Given the description of an element on the screen output the (x, y) to click on. 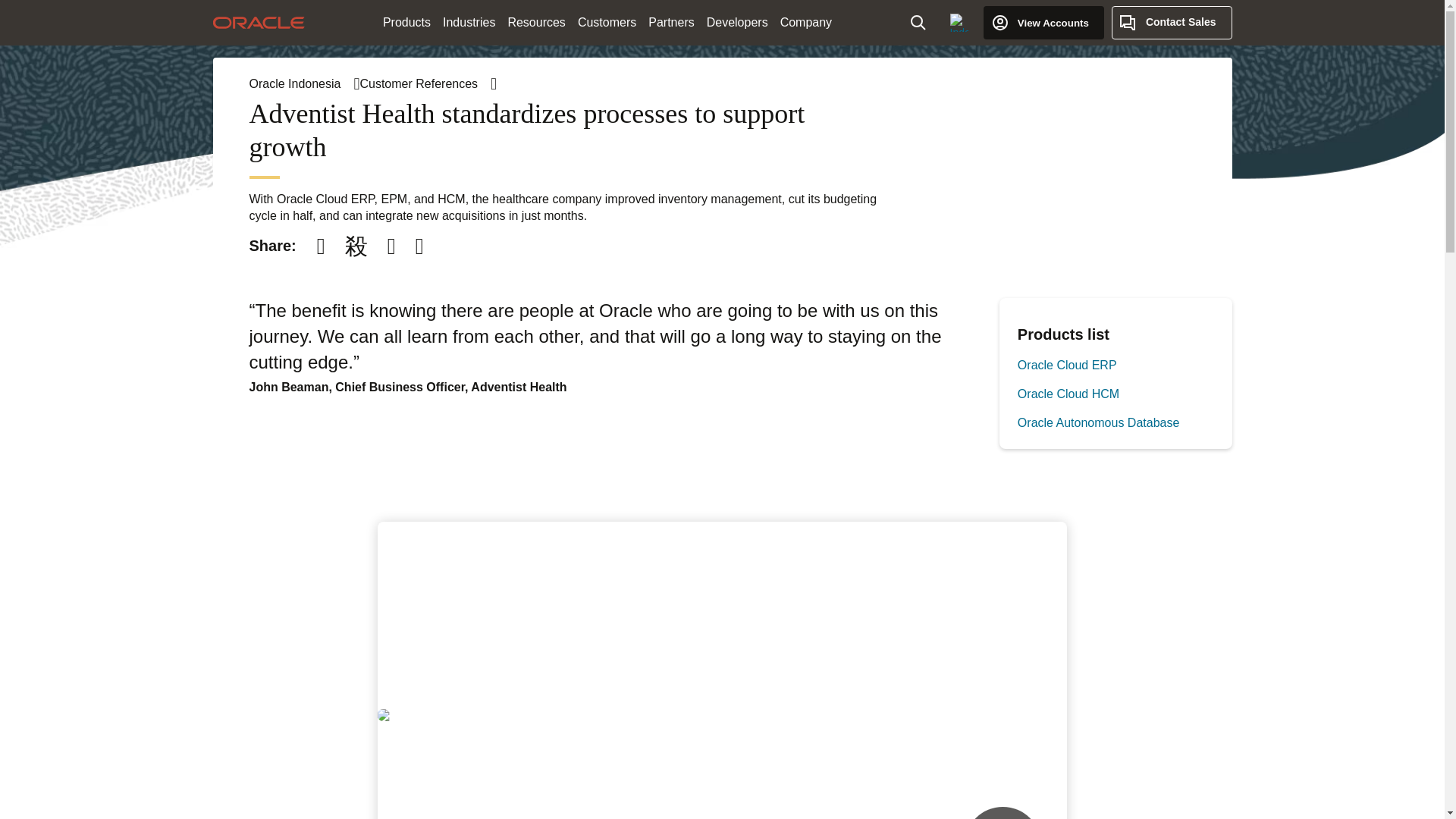
Developers (737, 22)
Oracle Indonesia (303, 83)
View Accounts (1043, 22)
Industries (468, 22)
Company (806, 22)
Contact Sales (1171, 22)
Products (406, 22)
Resources (535, 22)
Country (958, 22)
Contact Sales (1171, 22)
Partners (671, 22)
Customers (607, 22)
Share on Twitter (355, 246)
Customer References (427, 83)
